Given the description of an element on the screen output the (x, y) to click on. 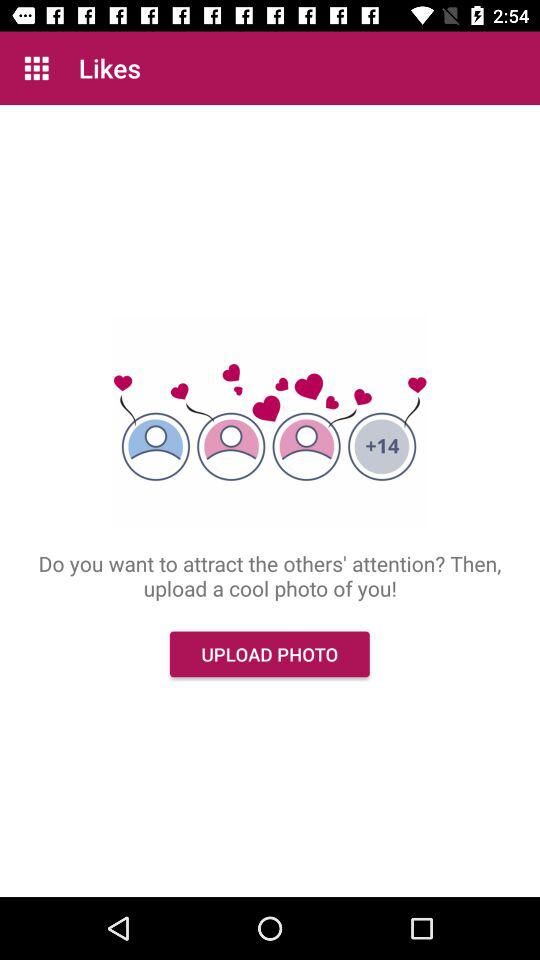
click app to the left of the likes app (36, 68)
